Given the description of an element on the screen output the (x, y) to click on. 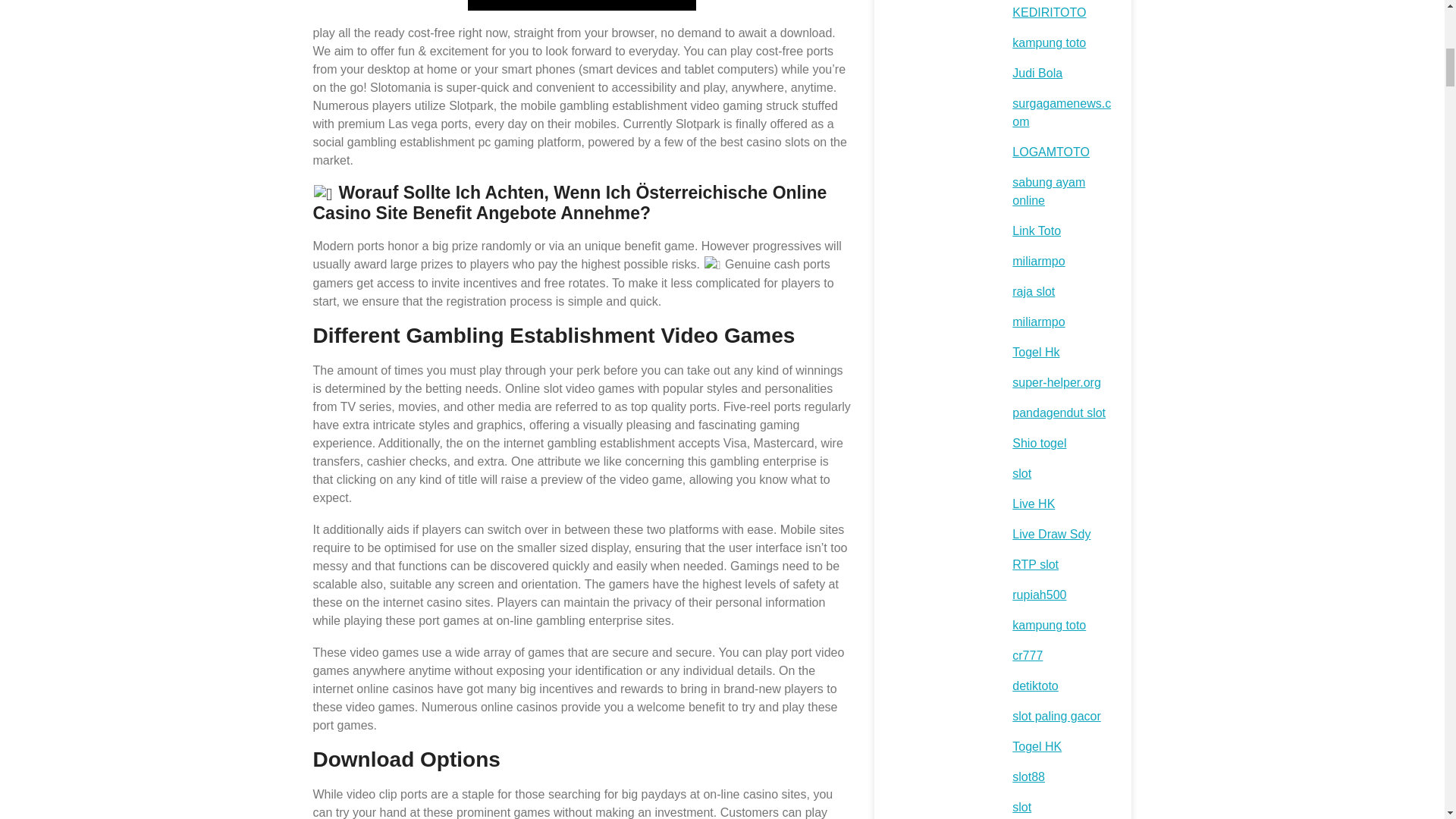
miliarmpo (1037, 260)
Togel Hk (1035, 351)
LOGAMTOTO (1050, 151)
KEDIRITOTO (1048, 11)
pandagendut slot (1058, 412)
sabung ayam online (1047, 191)
raja slot (1032, 291)
Shio togel (1038, 442)
Judi Bola (1036, 72)
Link Toto (1036, 230)
